Given the description of an element on the screen output the (x, y) to click on. 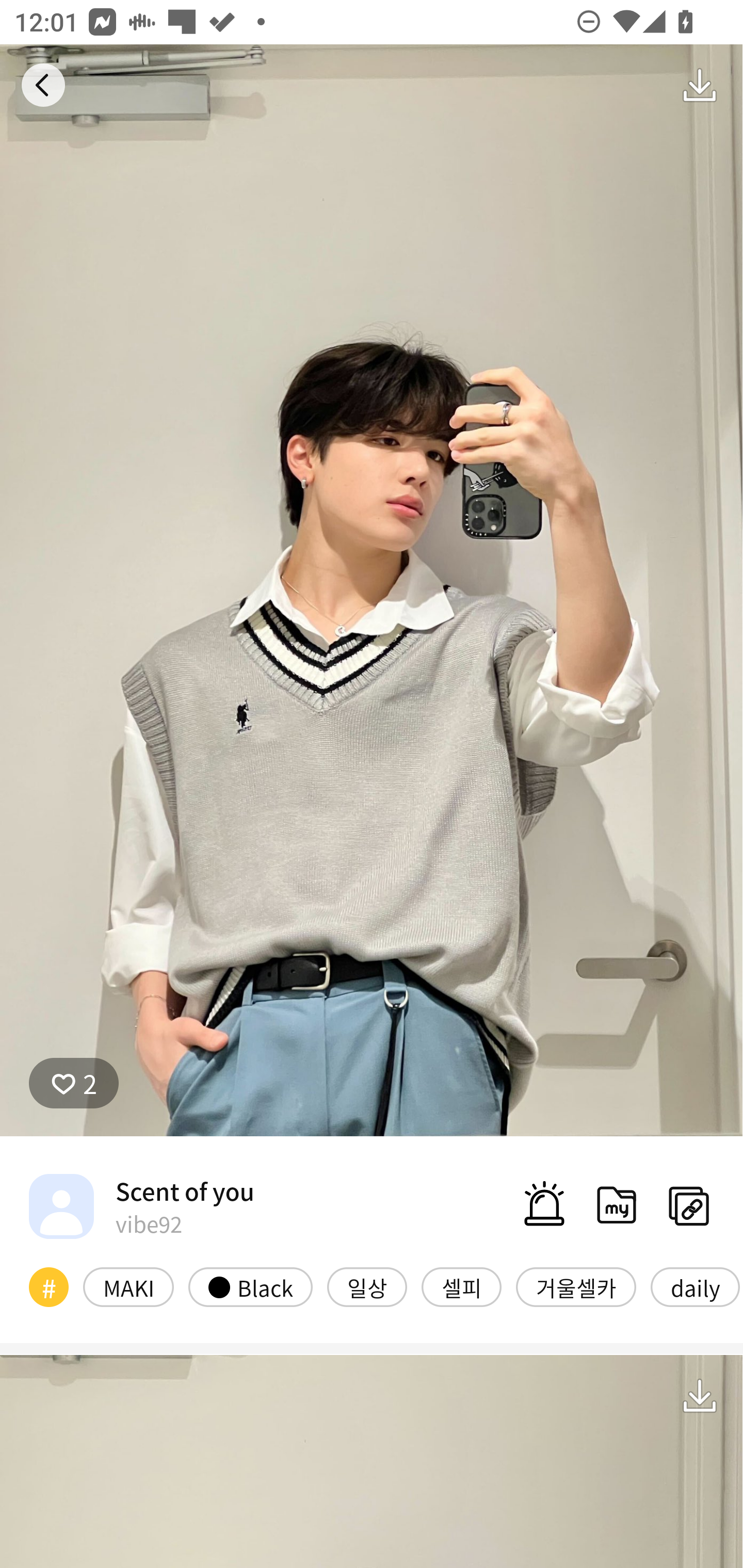
2 (73, 1082)
Scent of you vibe92 (141, 1205)
MAKI (128, 1286)
Black (249, 1286)
일상 (366, 1286)
셀피 (461, 1286)
거울셀카 (575, 1286)
daily (695, 1286)
